Given the description of an element on the screen output the (x, y) to click on. 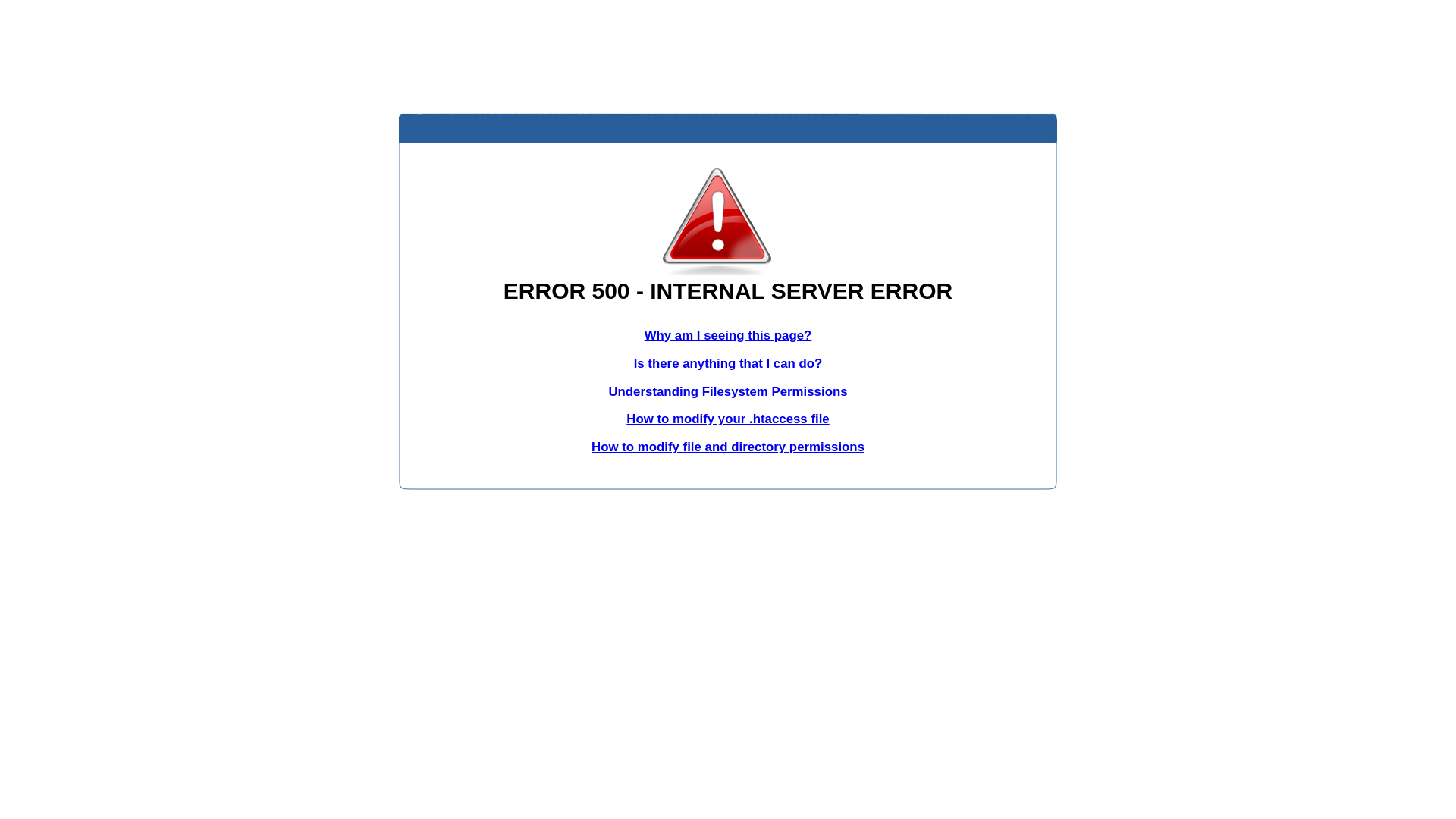
Why am I seeing this page? Element type: text (728, 335)
Understanding Filesystem Permissions Element type: text (727, 391)
Is there anything that I can do? Element type: text (727, 363)
How to modify your .htaccess file Element type: text (727, 418)
How to modify file and directory permissions Element type: text (727, 446)
